Given the description of an element on the screen output the (x, y) to click on. 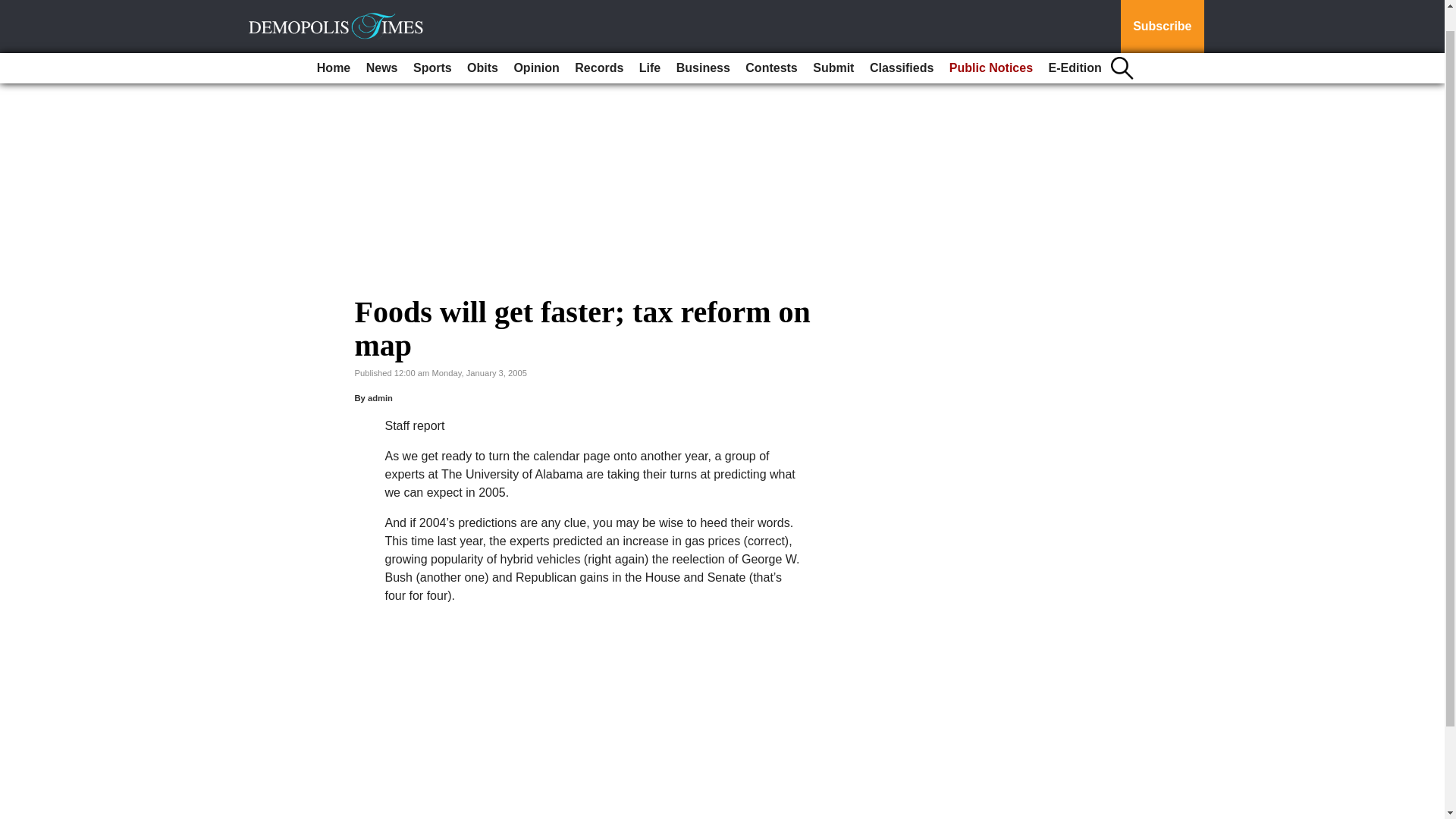
Opinion (535, 44)
E-Edition (1075, 44)
Obits (482, 44)
Submit (833, 44)
Public Notices (991, 44)
News (381, 44)
Business (702, 44)
admin (380, 397)
Classifieds (901, 44)
Sports (432, 44)
